Given the description of an element on the screen output the (x, y) to click on. 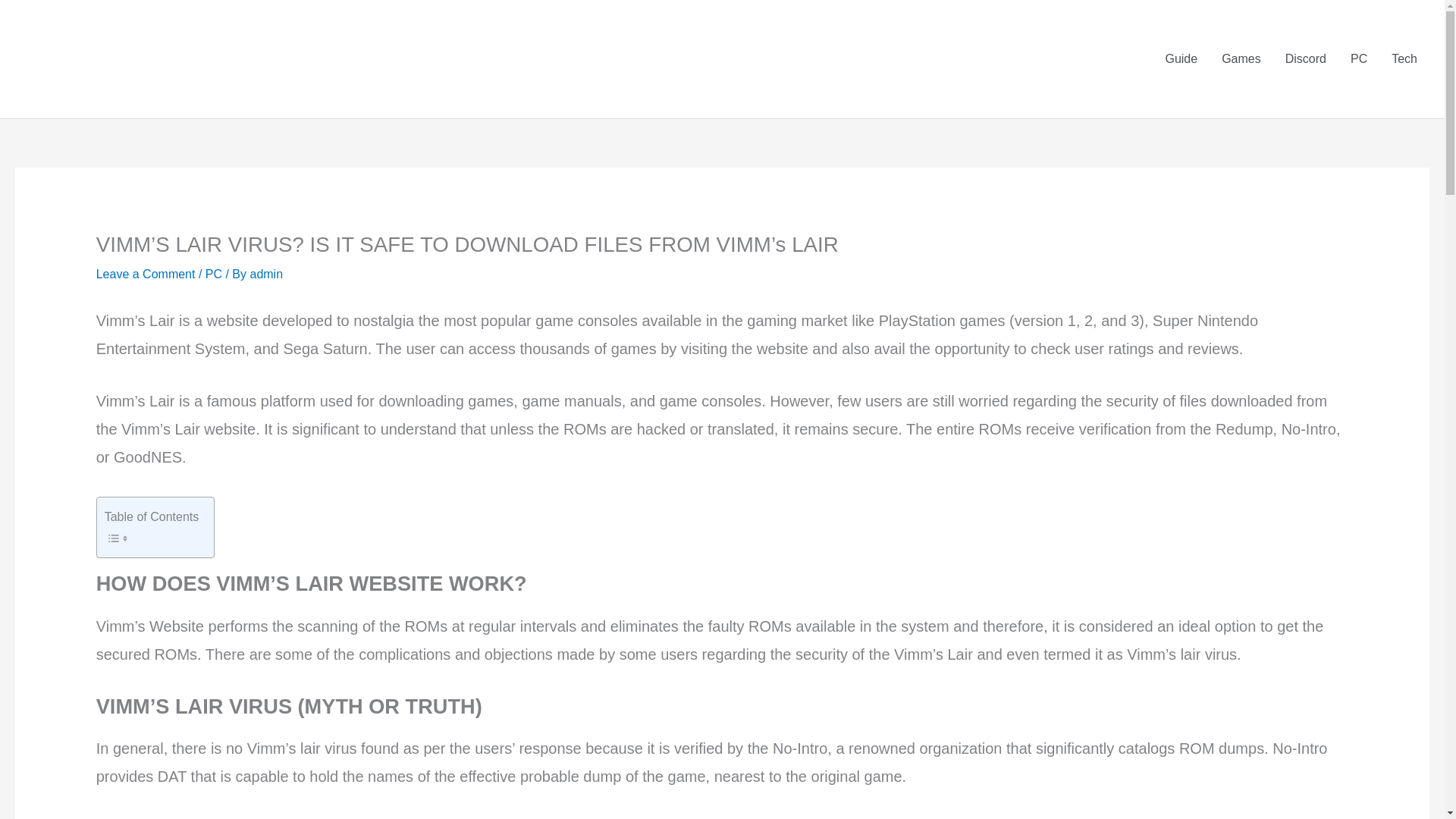
Leave a Comment (145, 273)
admin (265, 273)
PC (213, 273)
View all posts by admin (265, 273)
